Given the description of an element on the screen output the (x, y) to click on. 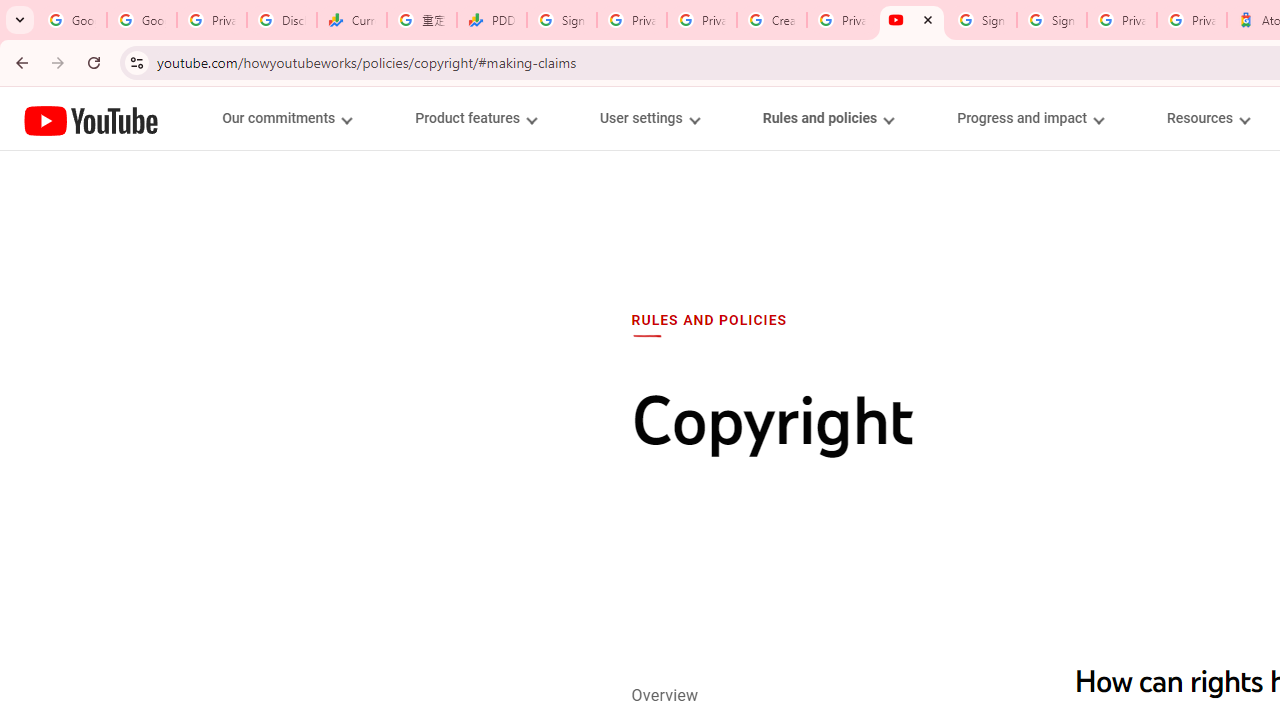
Currencies - Google Finance (351, 20)
Create your Google Account (772, 20)
